Given the description of an element on the screen output the (x, y) to click on. 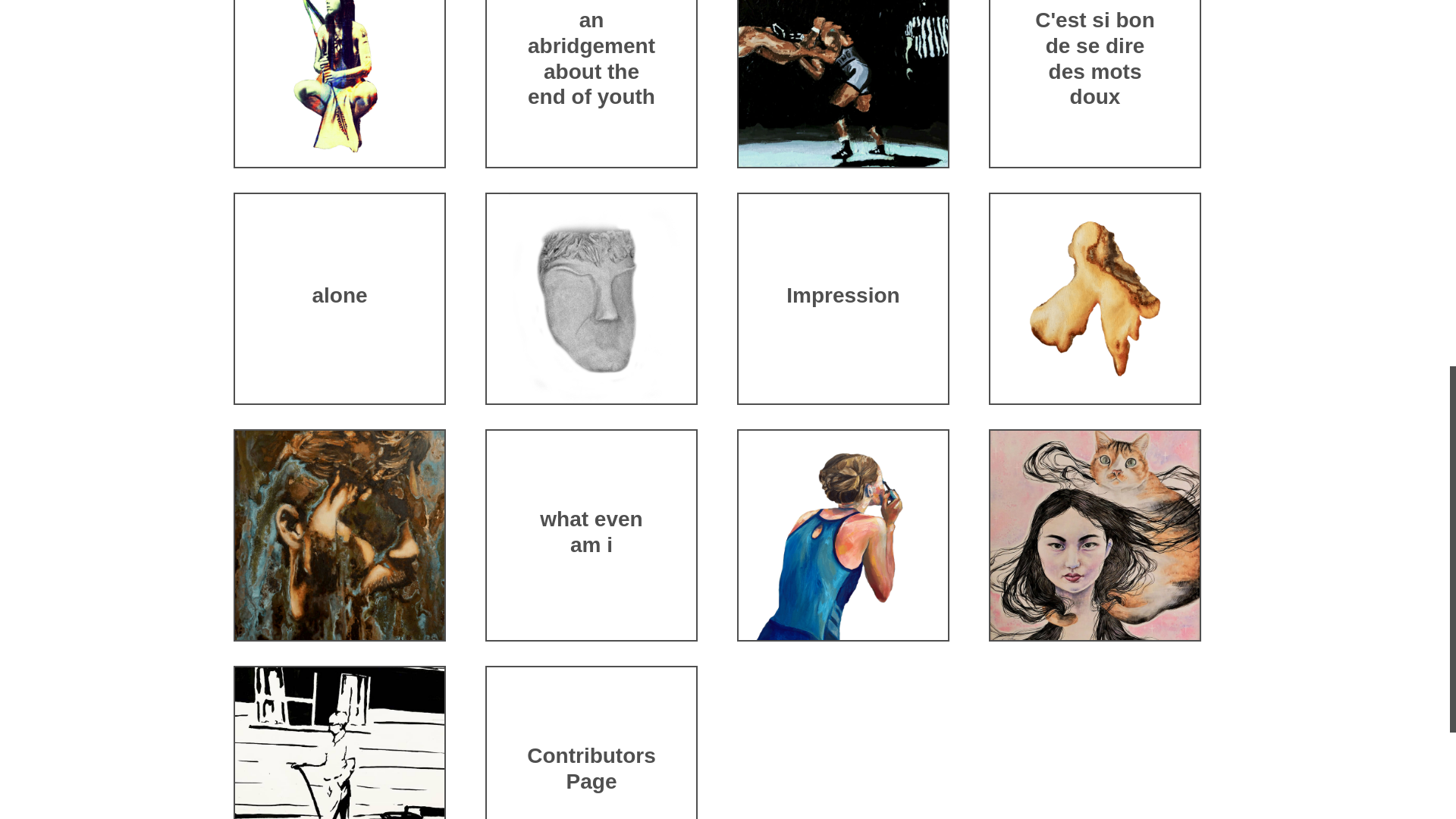
C'est si bon de se dire des mots doux (1094, 61)
an abridgement about the end of youth (590, 61)
alone (339, 298)
what even am i (590, 534)
Contributors Page (590, 771)
Impression (842, 298)
